Given the description of an element on the screen output the (x, y) to click on. 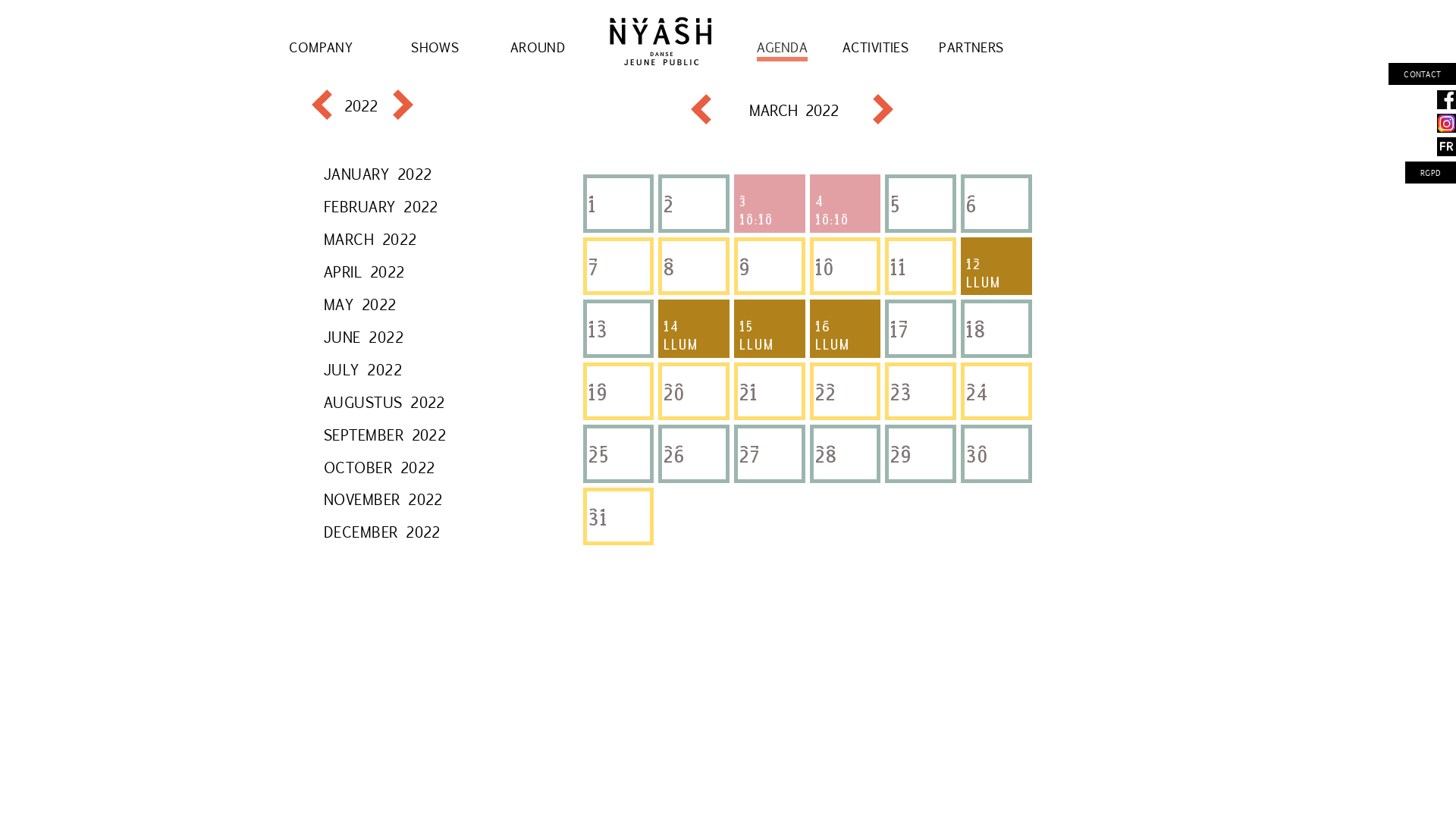
JULY 2022 Element type: text (362, 368)
JUNE 2022 Element type: text (363, 335)
DECEMBER 2022 Element type: text (381, 530)
FEBRUARY 2022 Element type: text (380, 205)
ACTIVITIES Element type: text (875, 46)
PARTNERS Element type: text (970, 46)
MAY 2022 Element type: text (359, 303)
OCTOBER 2022 Element type: text (379, 466)
APRIL 2022 Element type: text (364, 270)
MARCH 2022 Element type: text (370, 238)
SEPTEMBER 2022 Element type: text (384, 433)
AGENDA Element type: text (782, 46)
AUGUSTUS 2022 Element type: text (384, 401)
COMPANY Element type: text (320, 46)
JANUARY 2022 Element type: text (377, 172)
SHOWS Element type: text (434, 46)
AROUND Element type: text (537, 46)
NOVEMBER 2022 Element type: text (383, 498)
